Given the description of an element on the screen output the (x, y) to click on. 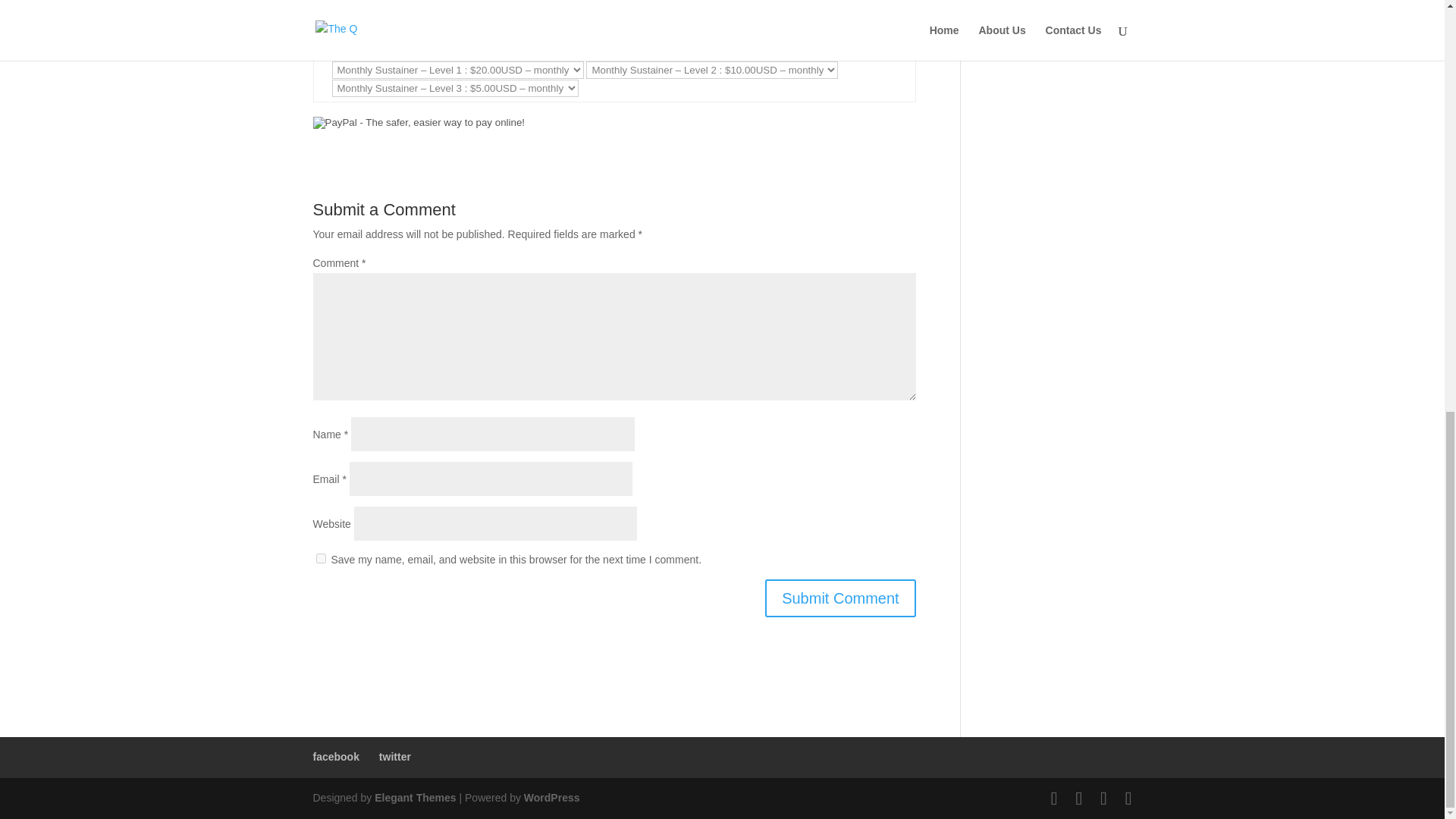
Premium WordPress Themes (414, 797)
Elegant Themes (414, 797)
yes (319, 558)
facebook (335, 756)
Submit Comment (840, 598)
twitter (394, 756)
Submit Comment (840, 598)
WordPress (551, 797)
